Given the description of an element on the screen output the (x, y) to click on. 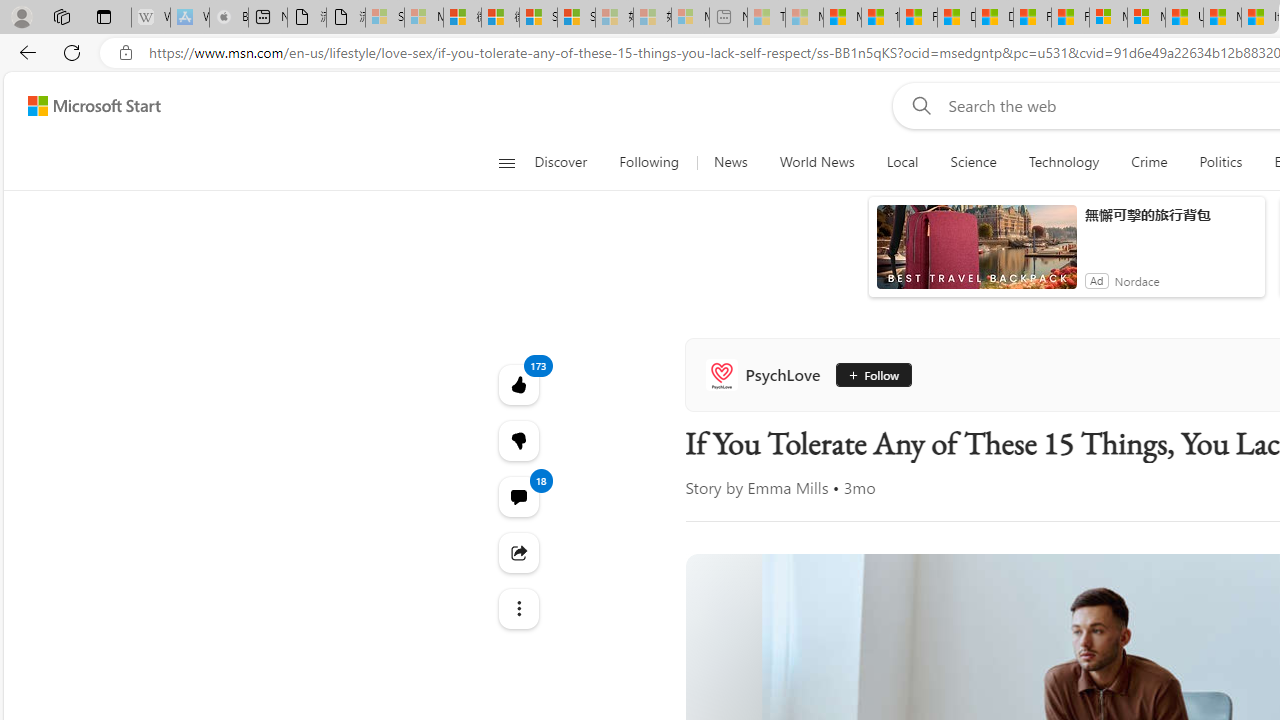
Politics (1220, 162)
Crime (1149, 162)
Microsoft account | Account Checkup - Sleeping (690, 17)
173 (517, 440)
Science (973, 162)
Local (902, 162)
Follow (872, 374)
